Given the description of an element on the screen output the (x, y) to click on. 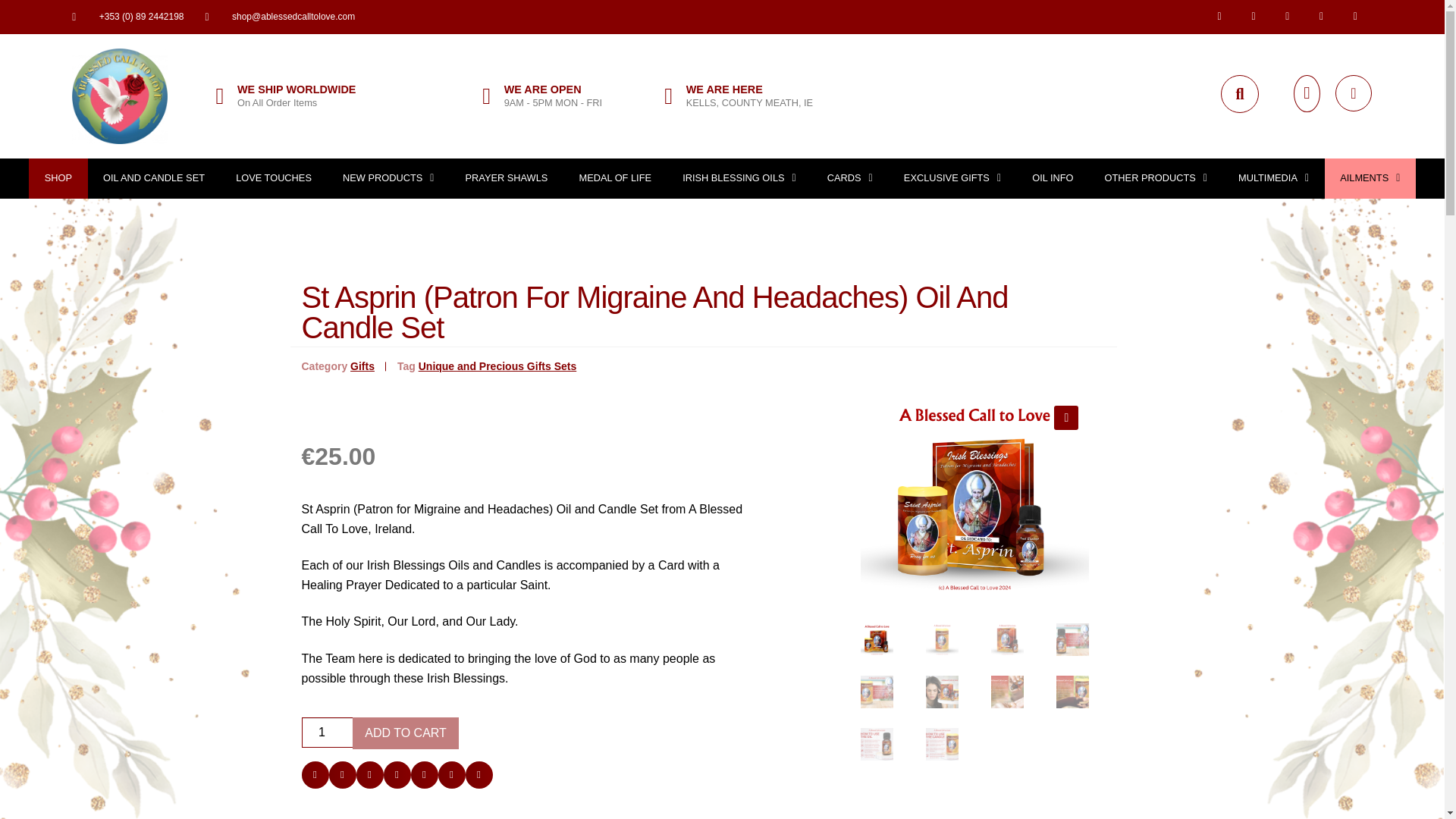
LOVE TOUCHES (274, 178)
EXCLUSIVE GIFTS (952, 178)
OIL AND CANDLE SET (154, 178)
St Asprin Patron for Migraine and Headaches 1 (974, 496)
SHOP (58, 178)
NEW PRODUCTS (388, 178)
1 (327, 732)
IRISH BLESSING OILS (739, 178)
PRAYER SHAWLS (506, 178)
MEDAL OF LIFE (614, 178)
CARDS (849, 178)
